Given the description of an element on the screen output the (x, y) to click on. 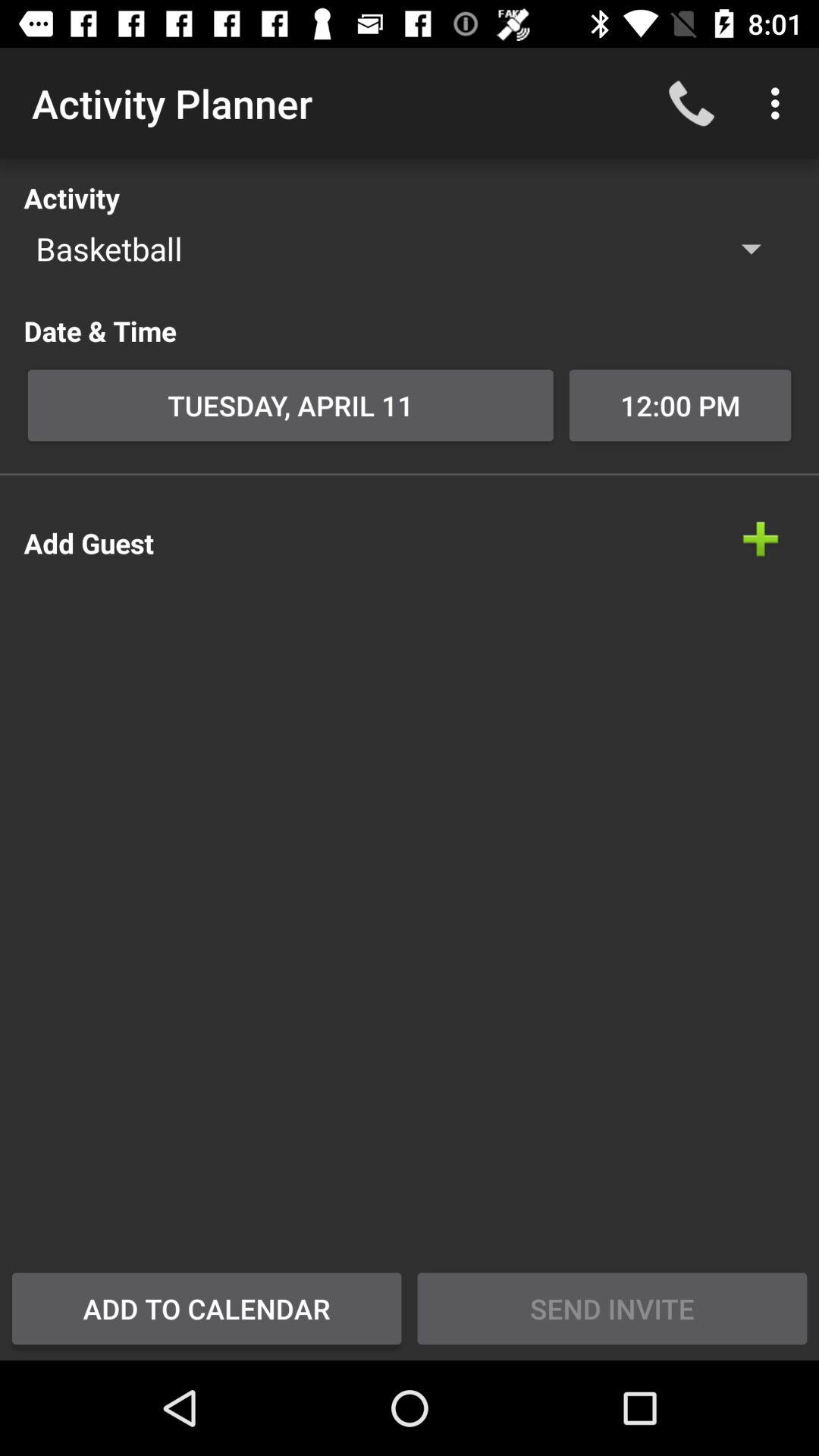
tap icon below date & time item (290, 405)
